Given the description of an element on the screen output the (x, y) to click on. 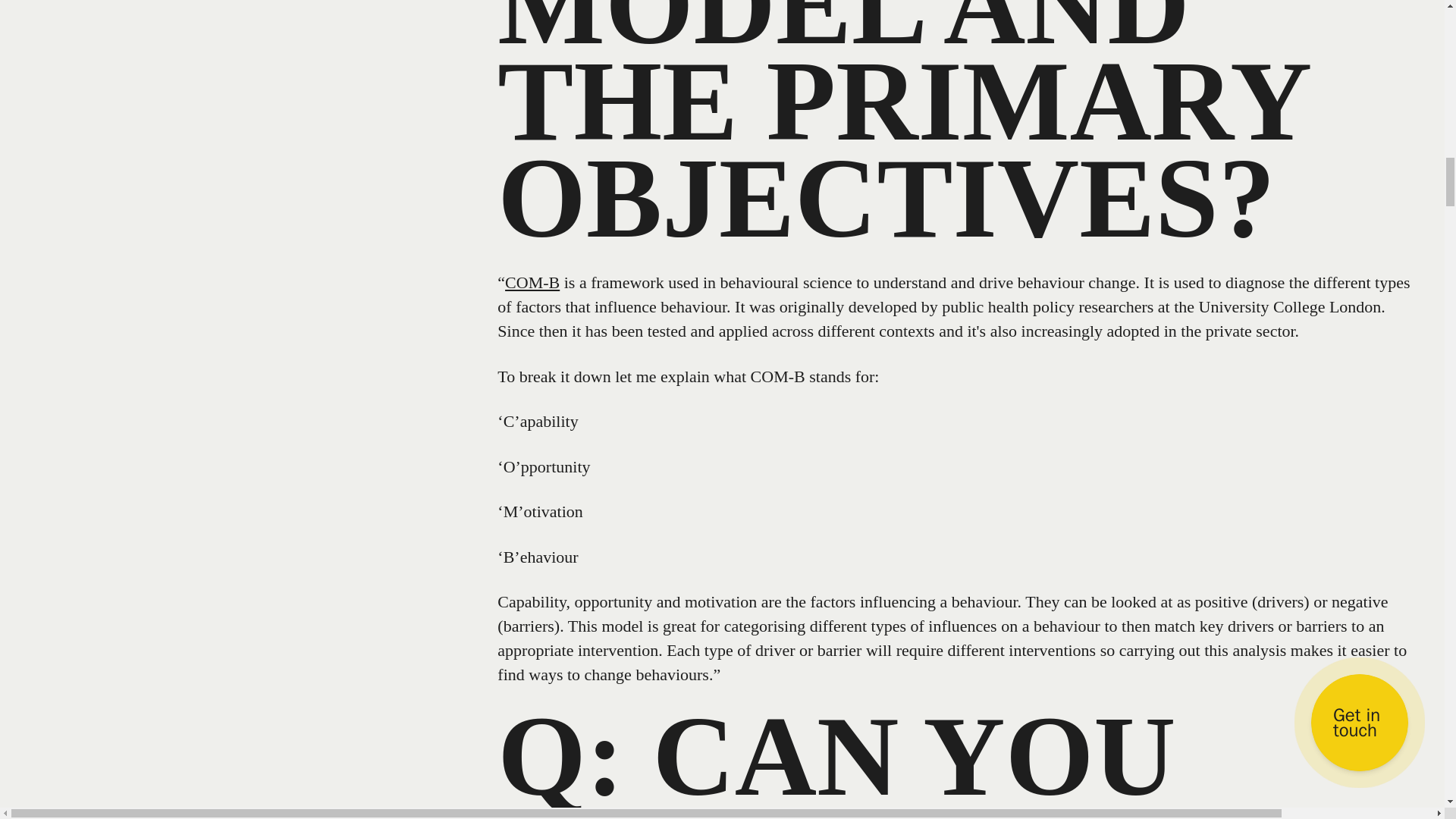
COM-B (532, 281)
